Given the description of an element on the screen output the (x, y) to click on. 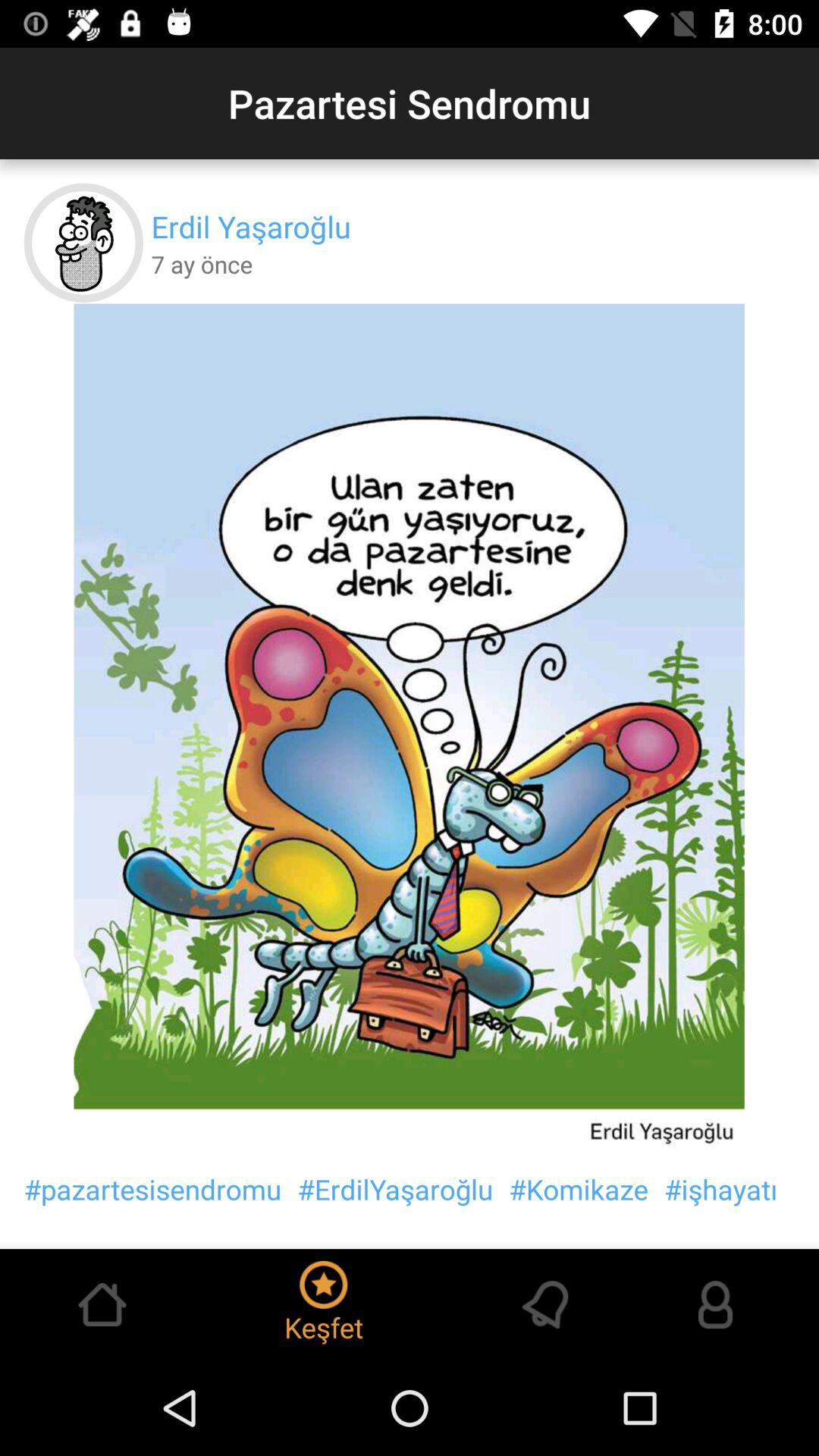
turn off item next to #komikaze icon (720, 1189)
